Given the description of an element on the screen output the (x, y) to click on. 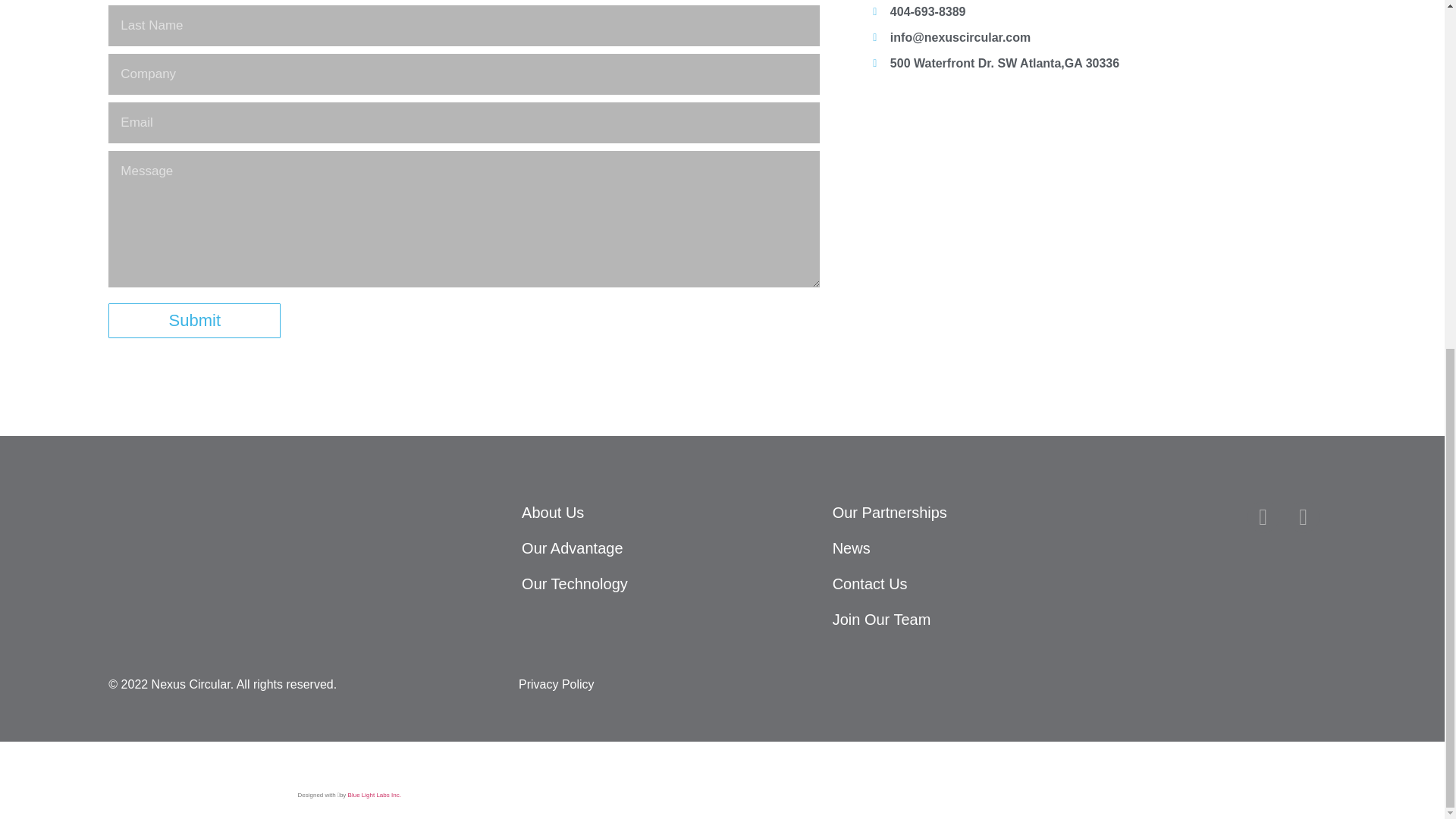
500 Waterfront Dr. SW Atlanta,GA 30336 (1103, 201)
